Given the description of an element on the screen output the (x, y) to click on. 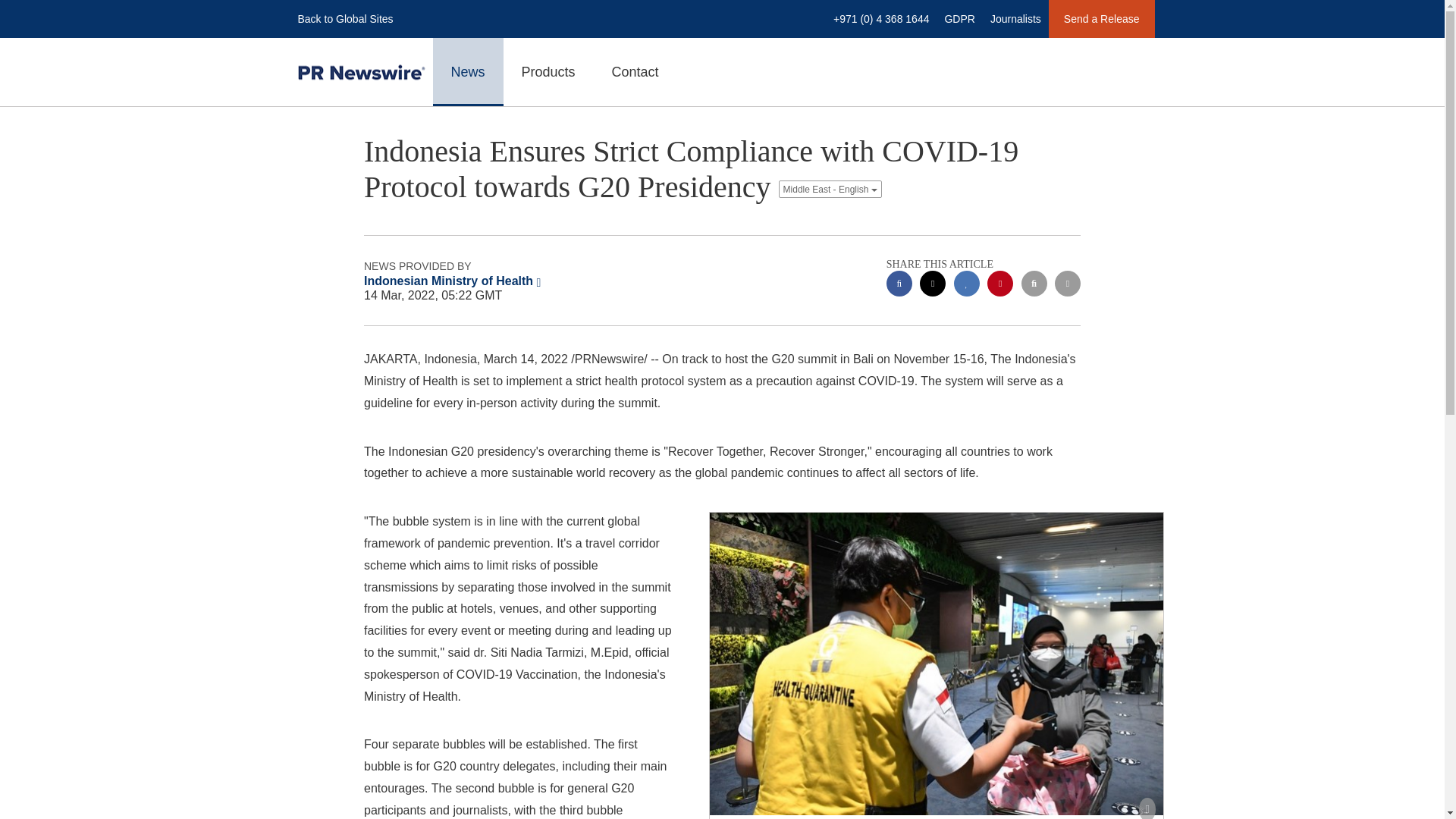
GDPR (958, 18)
Back to Global Sites (344, 18)
PR Newswire: news distribution, targeting and monitoring (361, 72)
News (467, 71)
Journalists (1015, 18)
Send a Release (1101, 18)
Contact (635, 71)
Products (548, 71)
